Given the description of an element on the screen output the (x, y) to click on. 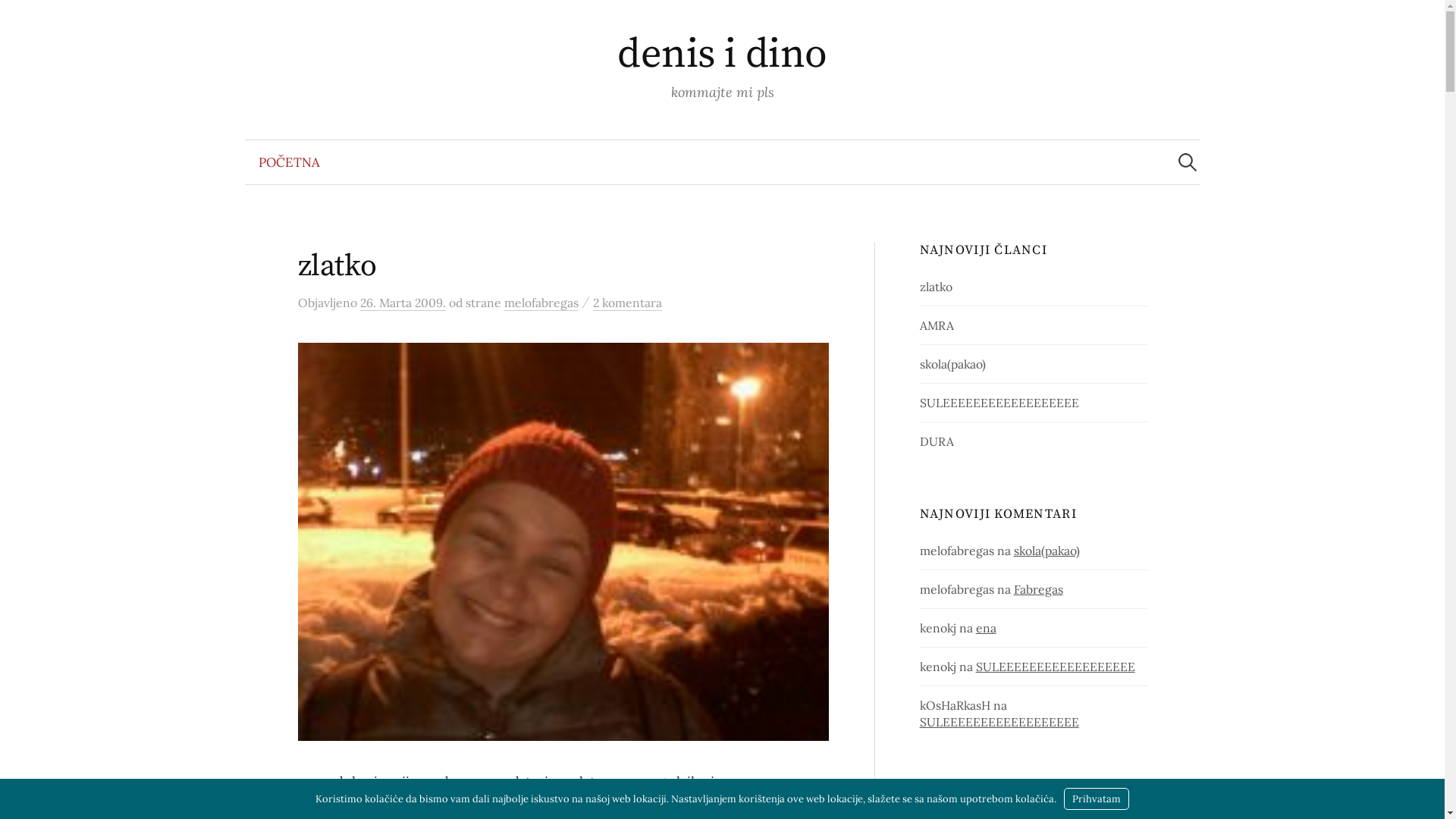
Pretraga Element type: text (18, 18)
DURA Element type: text (936, 440)
ena Element type: text (985, 627)
zlatko Element type: text (935, 286)
26. Marta 2009. Element type: text (402, 302)
SULEEEEEEEEEEEEEEEEEE Element type: text (1055, 666)
AMRA Element type: text (936, 324)
SULEEEEEEEEEEEEEEEEEE Element type: text (999, 721)
2 komentara
za zlatko Element type: text (627, 302)
skola(pakao) Element type: text (952, 363)
denis i dino Element type: text (722, 54)
Prihvatam Element type: text (1096, 798)
SULEEEEEEEEEEEEEEEEEE Element type: text (999, 402)
melofabregas Element type: text (540, 302)
skola(pakao) Element type: text (1046, 550)
Fabregas Element type: text (1038, 588)
zlatko Element type: text (336, 266)
